Given the description of an element on the screen output the (x, y) to click on. 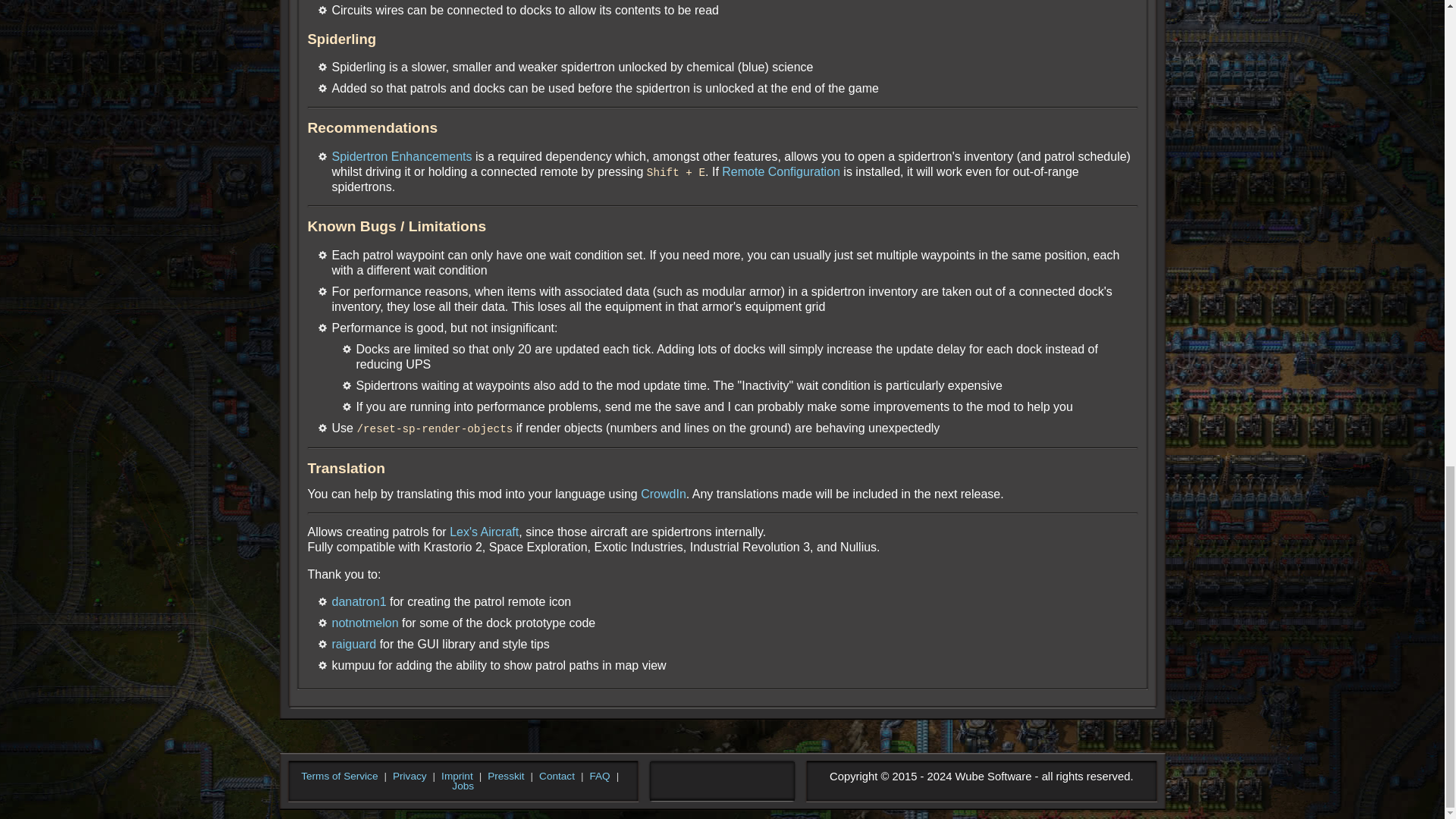
notnotmelon (364, 621)
Remote Configuration (781, 171)
raiguard (354, 643)
Jobs (462, 786)
Imprint (457, 775)
Privacy (409, 775)
Contact (556, 775)
CrowdIn (662, 492)
Lex's Aircraft (483, 530)
Terms of Service (339, 775)
danatron1 (359, 600)
Spidertron Enhancements (401, 155)
Presskit (505, 775)
FAQ (599, 775)
